Given the description of an element on the screen output the (x, y) to click on. 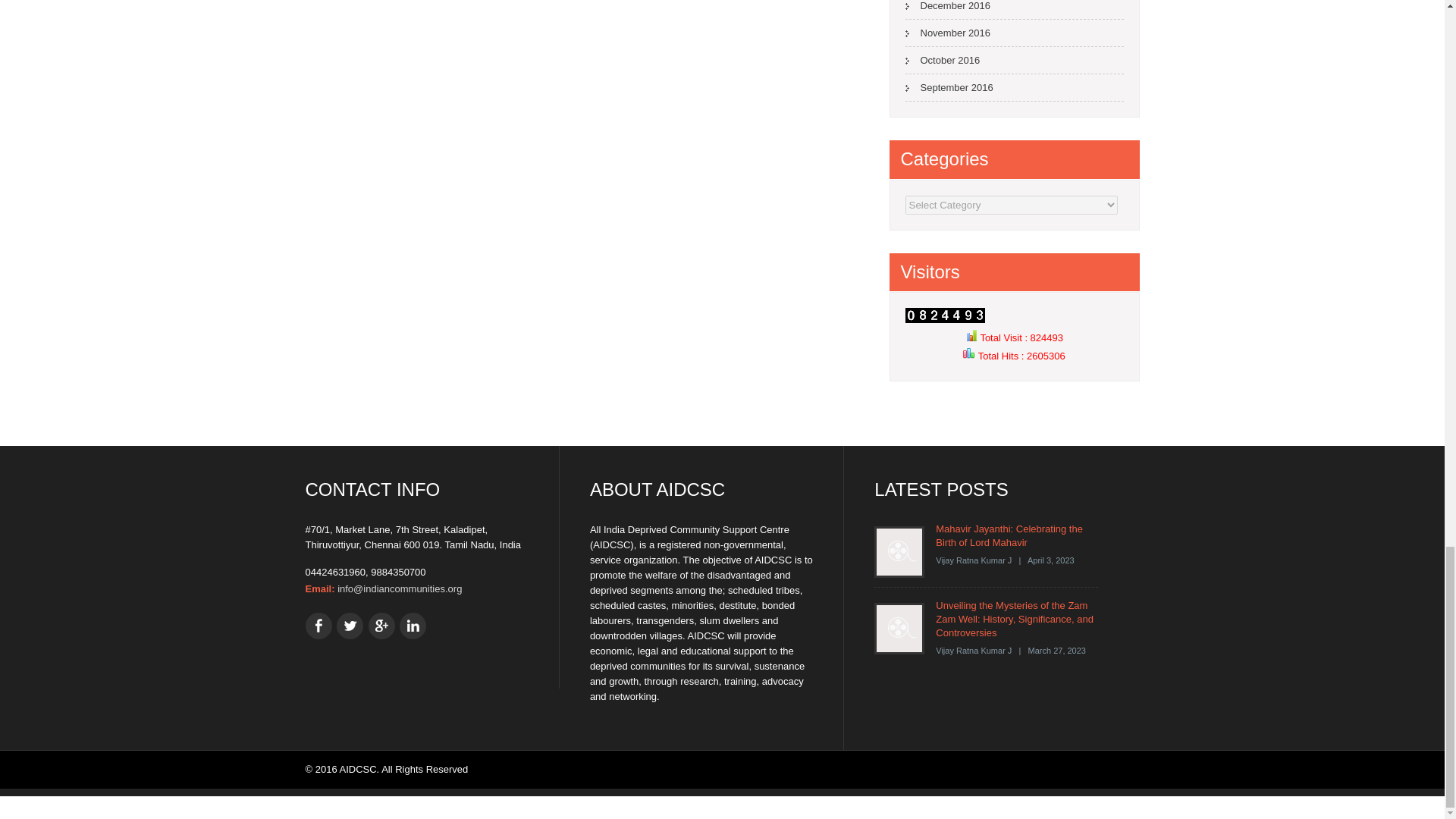
google-plus (381, 625)
facebook (317, 625)
twitter (349, 625)
linkedin (412, 625)
